Given the description of an element on the screen output the (x, y) to click on. 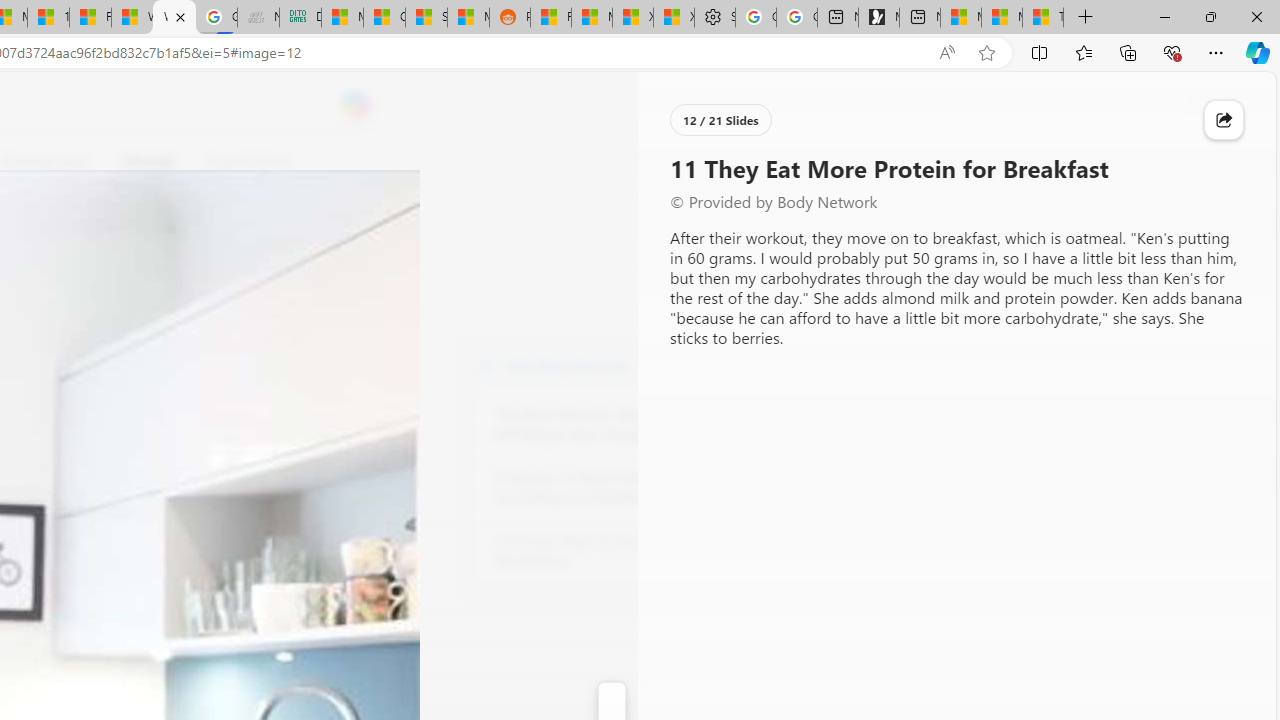
DITOGAMES AG Imprint (300, 17)
These 3 Stocks Pay You More Than 5% to Own Them (1042, 17)
MSN (468, 17)
Navy Quest (258, 17)
Open settings (1231, 105)
Microsoft Start Gaming (878, 17)
Food & Drink (249, 162)
Fitness - MSN (90, 17)
